Given the description of an element on the screen output the (x, y) to click on. 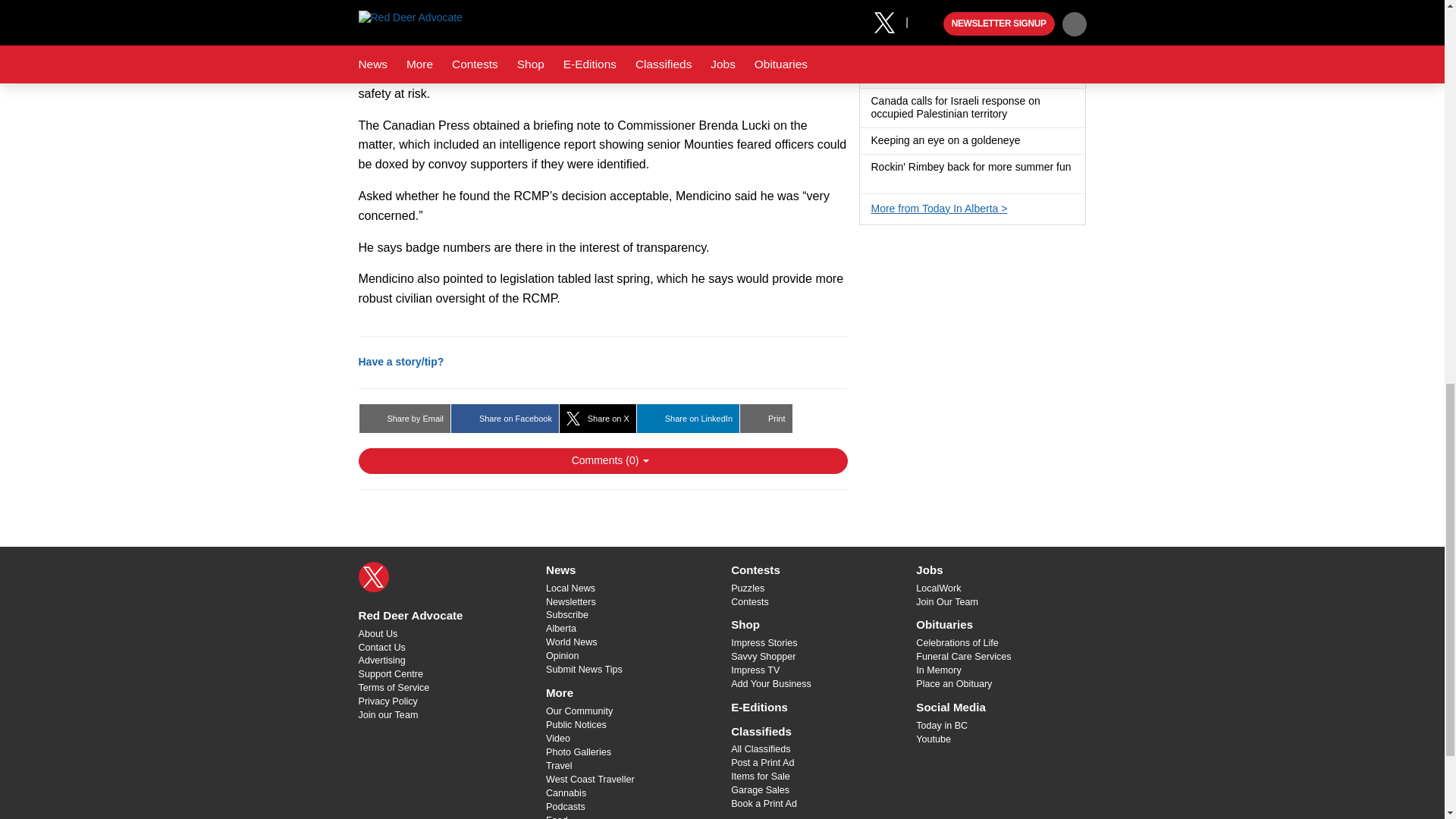
X (373, 576)
Show Comments (602, 460)
Has a gallery (876, 180)
